Given the description of an element on the screen output the (x, y) to click on. 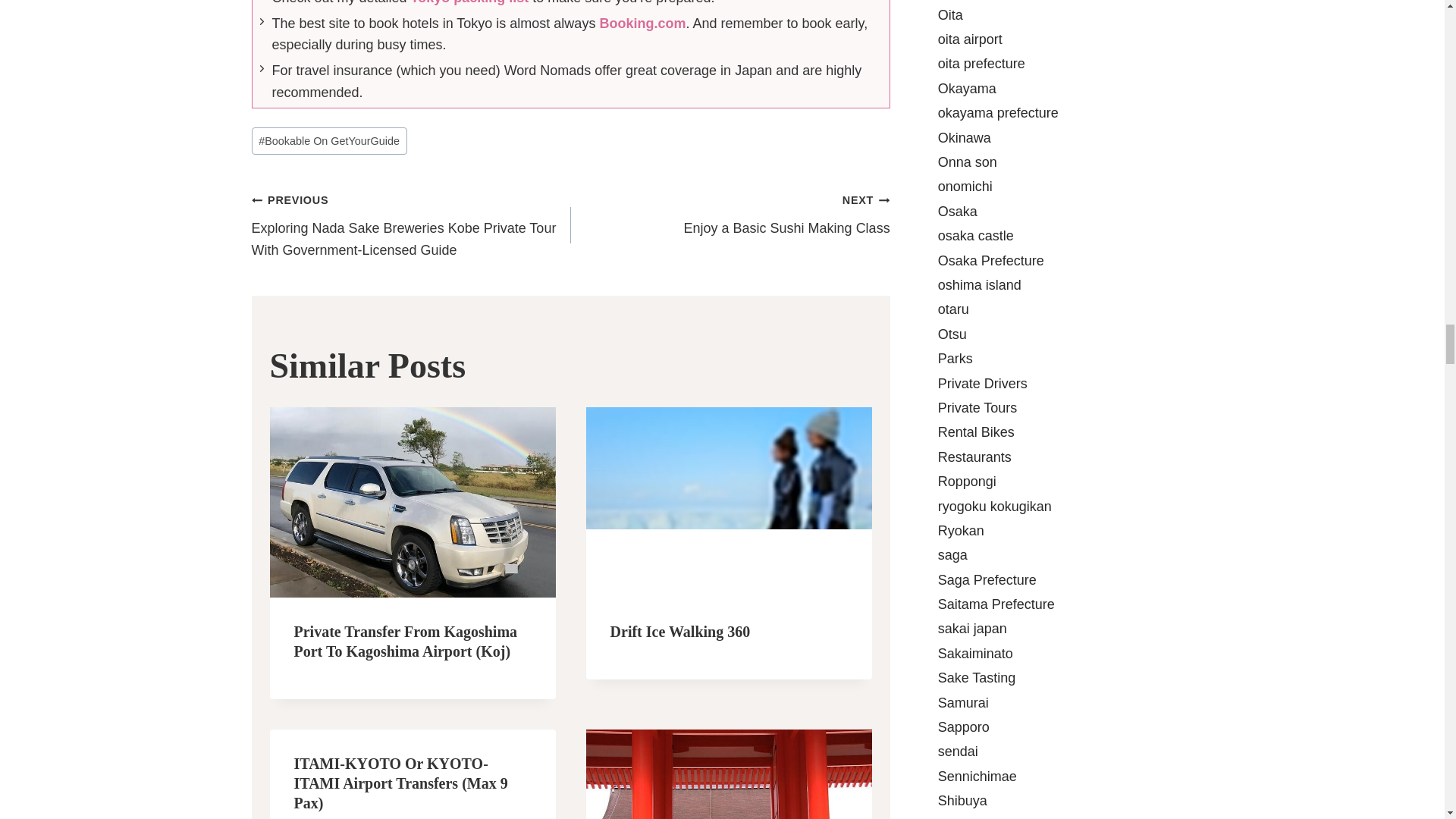
Bookable On GetYourGuide (329, 141)
